Given the description of an element on the screen output the (x, y) to click on. 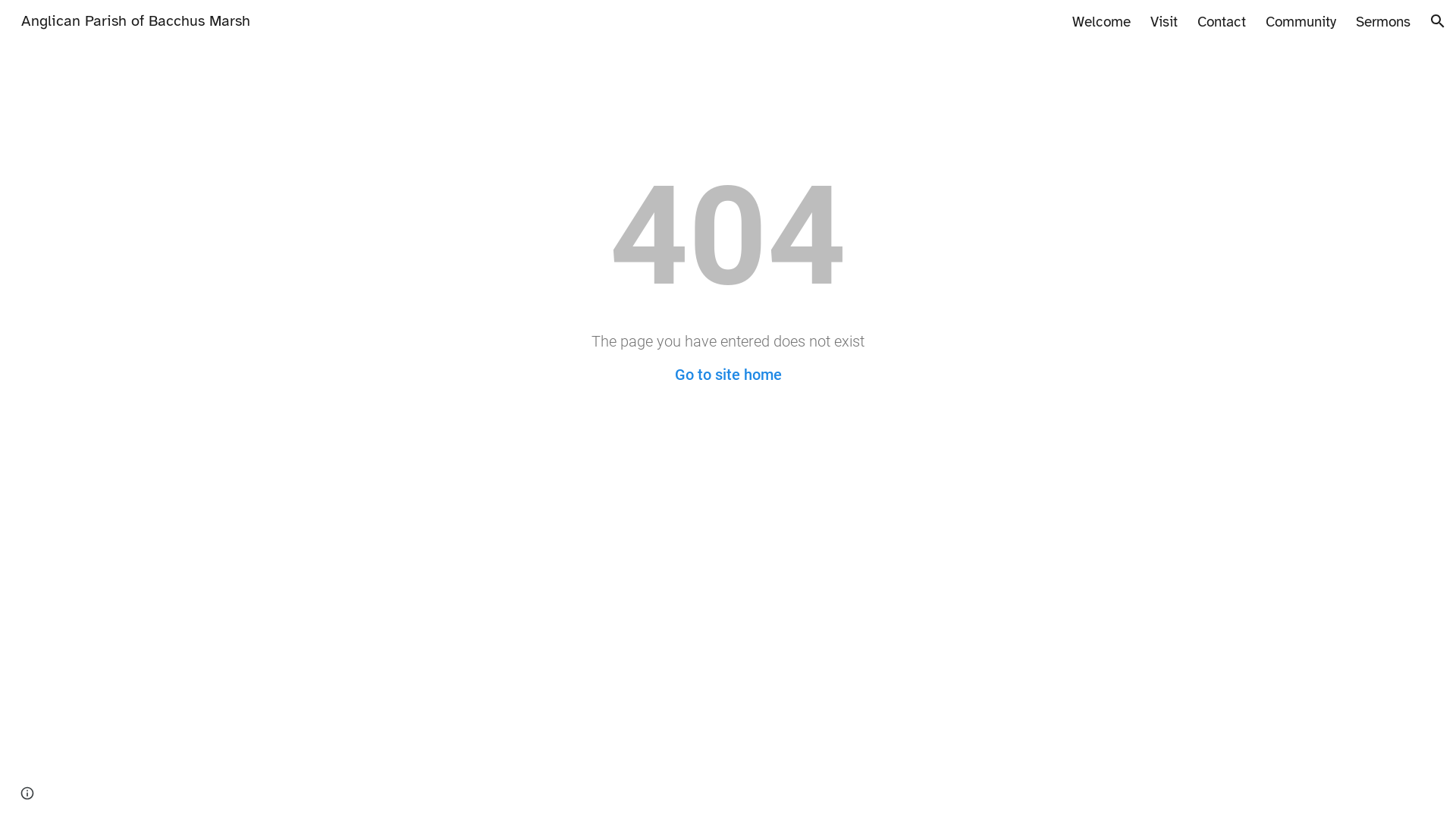
Contact Element type: text (1221, 20)
Sermons Element type: text (1382, 20)
Go to site home Element type: text (727, 374)
Community Element type: text (1300, 20)
Visit Element type: text (1163, 20)
Anglican Parish of Bacchus Marsh Element type: text (135, 19)
Welcome Element type: text (1101, 20)
